Given the description of an element on the screen output the (x, y) to click on. 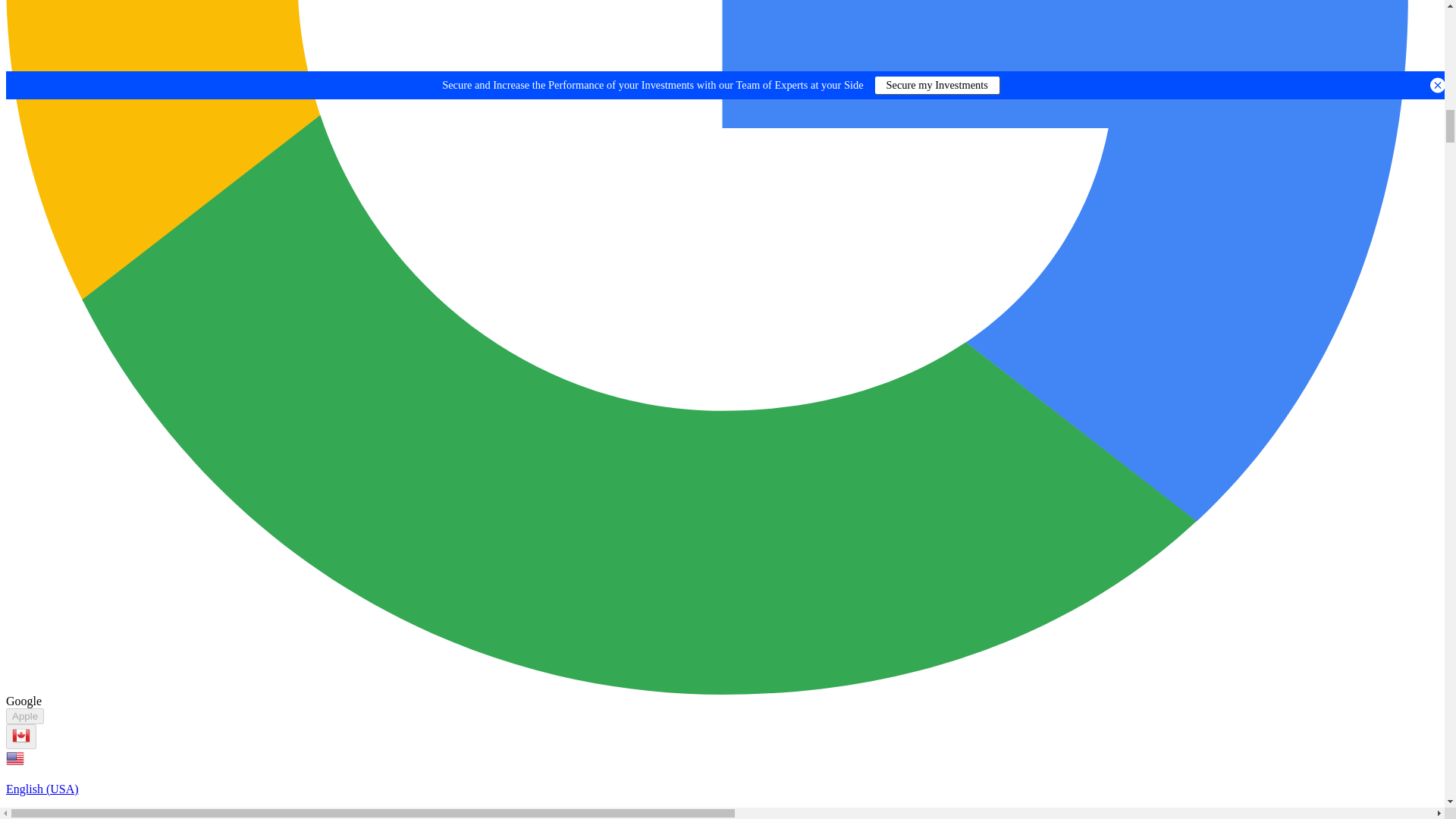
Apple (24, 715)
